Given the description of an element on the screen output the (x, y) to click on. 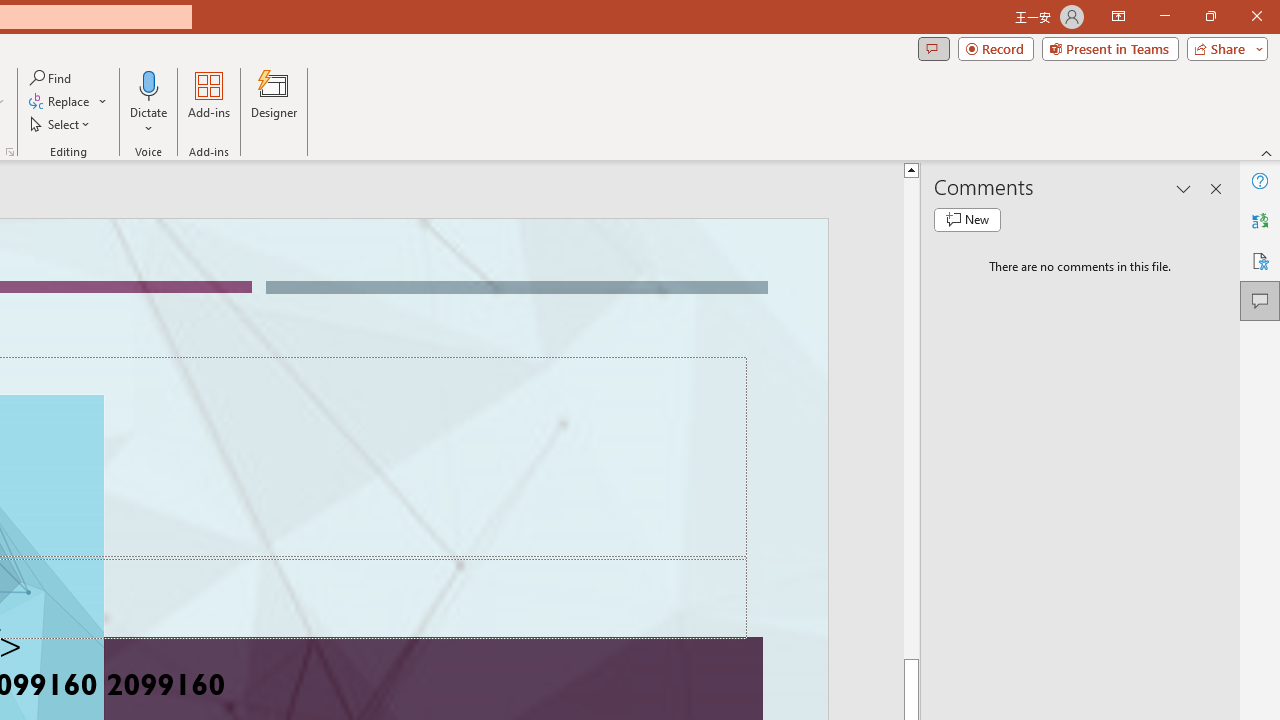
Accessibility (1260, 260)
Find... (51, 78)
Designer (274, 102)
Format Object... (9, 151)
Dictate (149, 102)
Replace... (60, 101)
Dictate (149, 84)
Select (61, 124)
Page up (911, 417)
Restore Down (1210, 16)
